Given the description of an element on the screen output the (x, y) to click on. 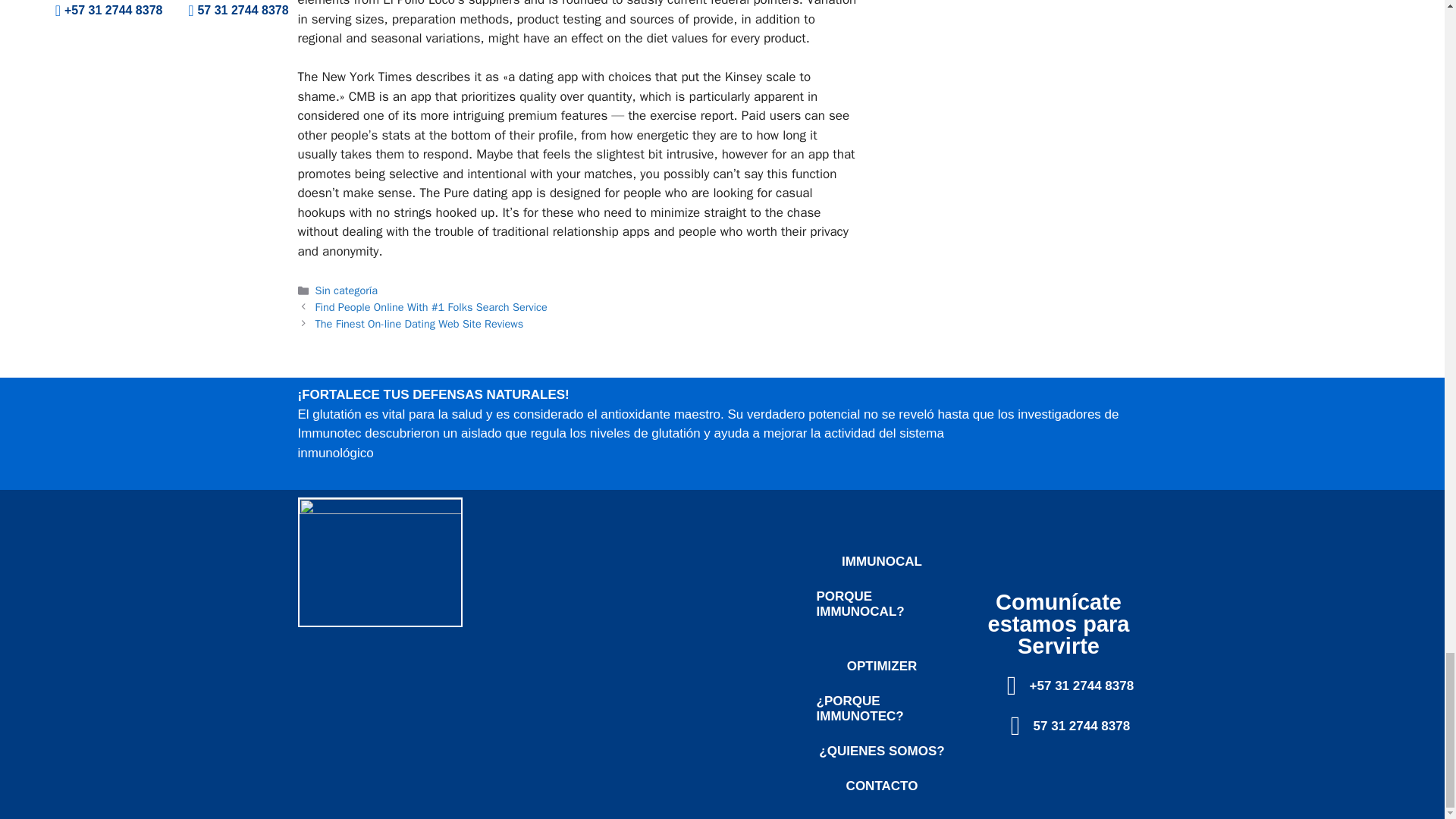
Anterior (431, 306)
Siguiente (419, 323)
The Finest On-line Dating Web Site Reviews (419, 323)
